Given the description of an element on the screen output the (x, y) to click on. 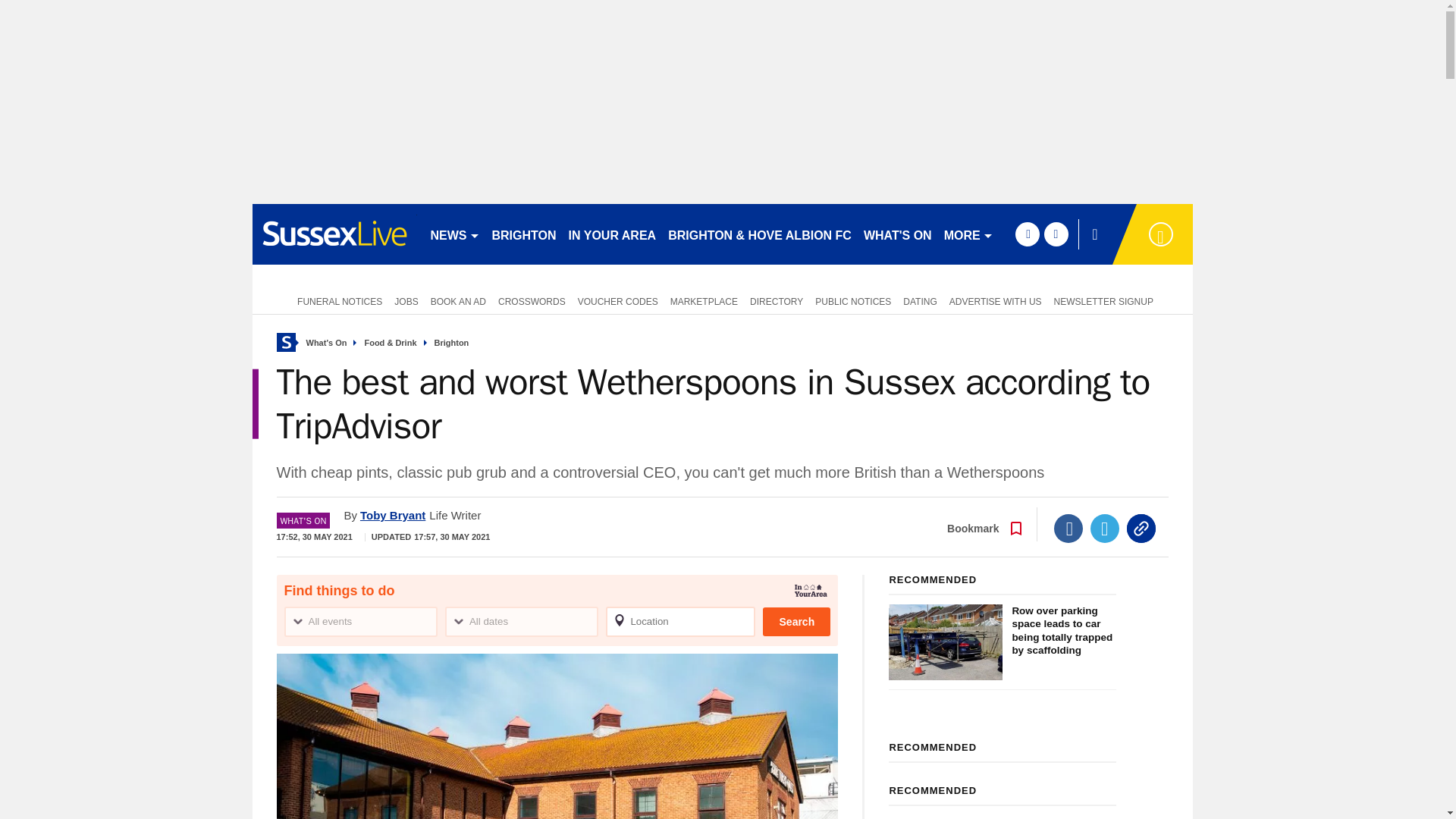
BRIGHTON (523, 233)
CROSSWORDS (532, 300)
JOBS (405, 300)
facebook (1026, 233)
sussexlive (333, 233)
WHAT'S ON (897, 233)
IN YOUR AREA (612, 233)
NEWS (455, 233)
VOUCHER CODES (617, 300)
MARKETPLACE (703, 300)
MORE (967, 233)
Facebook (1068, 528)
Twitter (1104, 528)
twitter (1055, 233)
BOOK AN AD (458, 300)
